Given the description of an element on the screen output the (x, y) to click on. 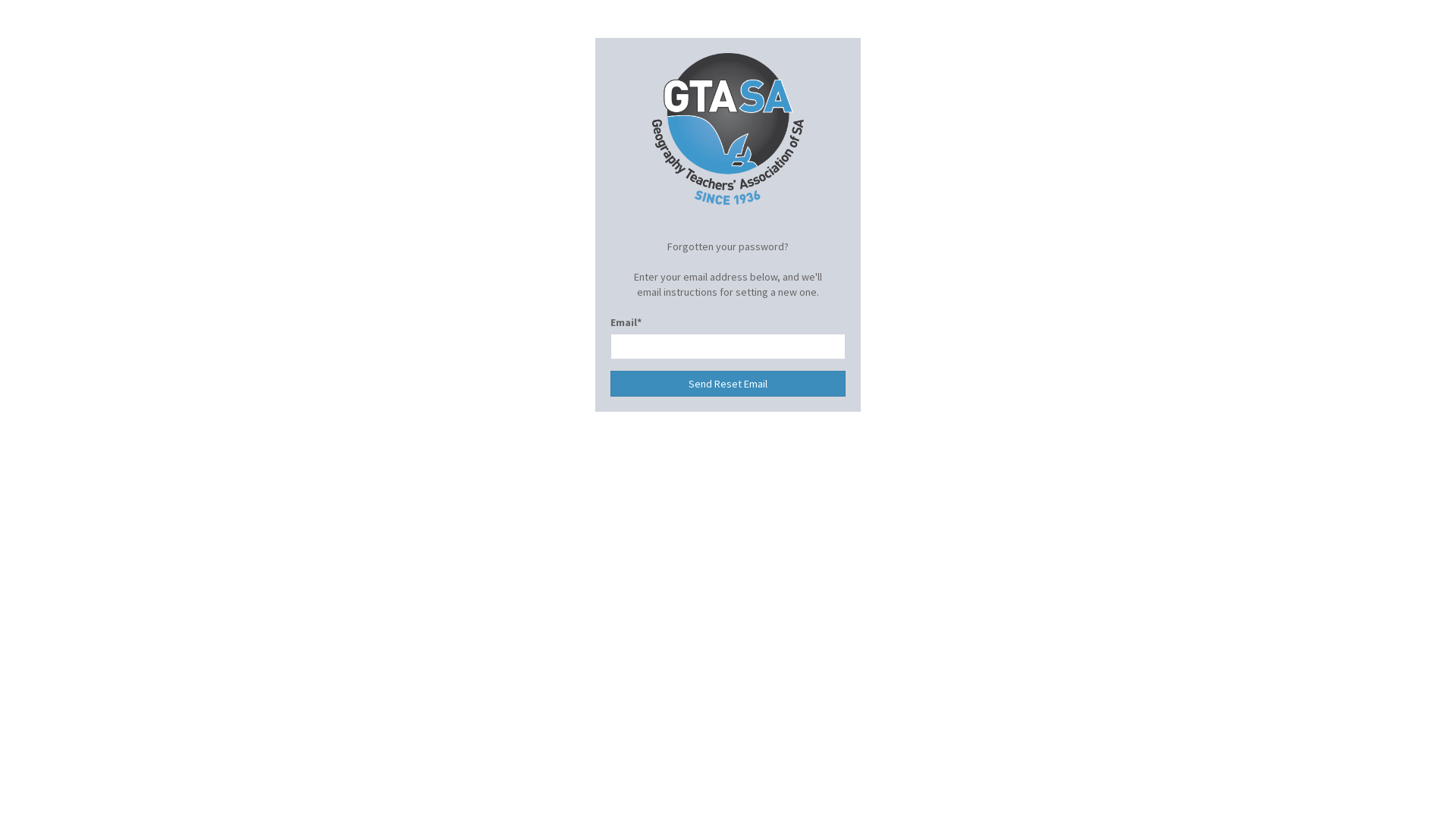
Send Reset Email Element type: text (727, 383)
